Given the description of an element on the screen output the (x, y) to click on. 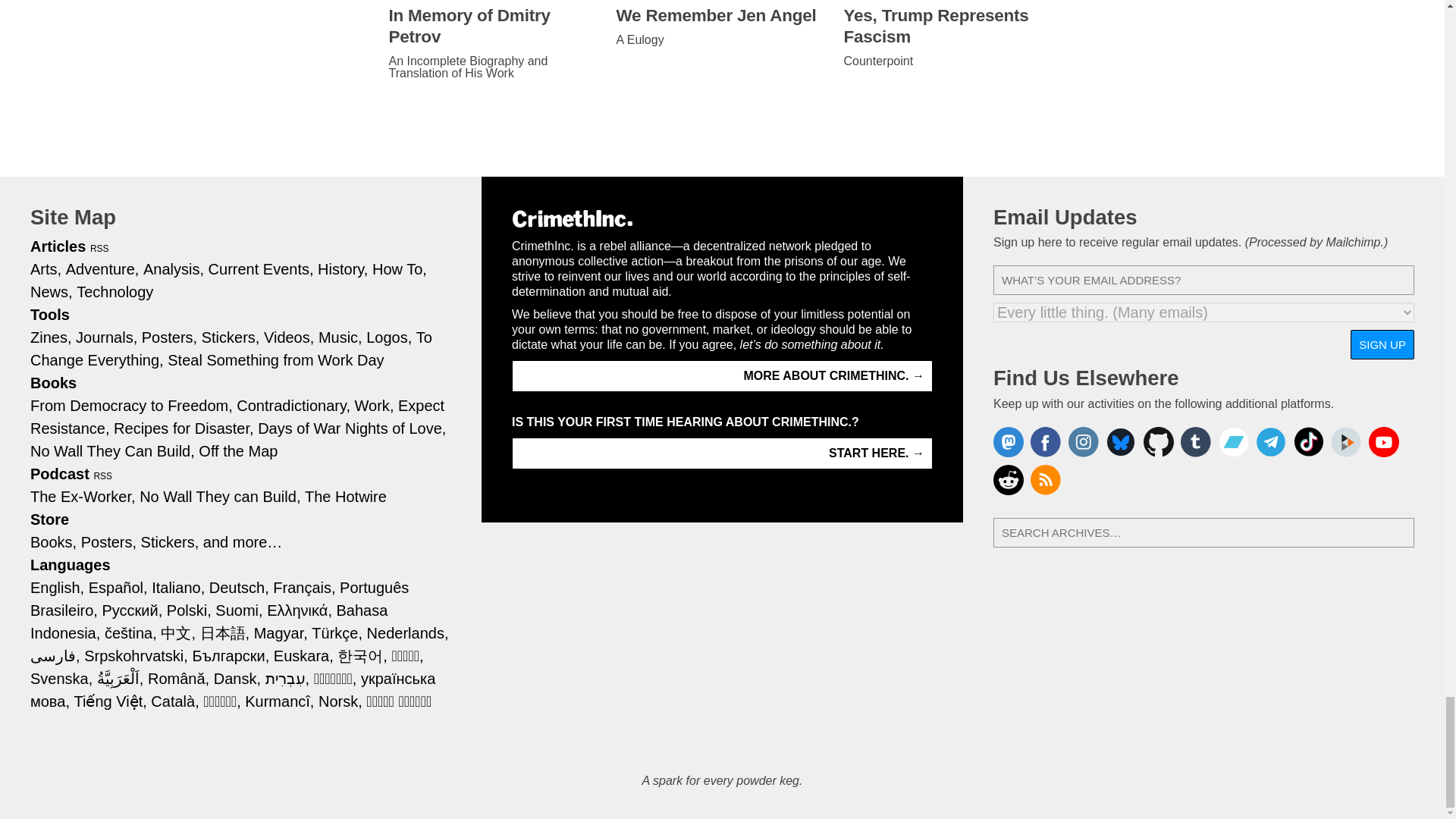
Arts (45, 269)
An Incomplete Biography and Translation of His Work (493, 67)
Analysis (172, 269)
Current Events (261, 269)
How To (399, 269)
A Eulogy (721, 39)
In Memory of Dmitry Petrov (493, 25)
Articles (57, 246)
RSS (99, 248)
We Remember Jen Angel (721, 15)
Yes, Trump Represents Fascism (949, 25)
History (342, 269)
Counterpoint (949, 61)
Adventure (102, 269)
